Given the description of an element on the screen output the (x, y) to click on. 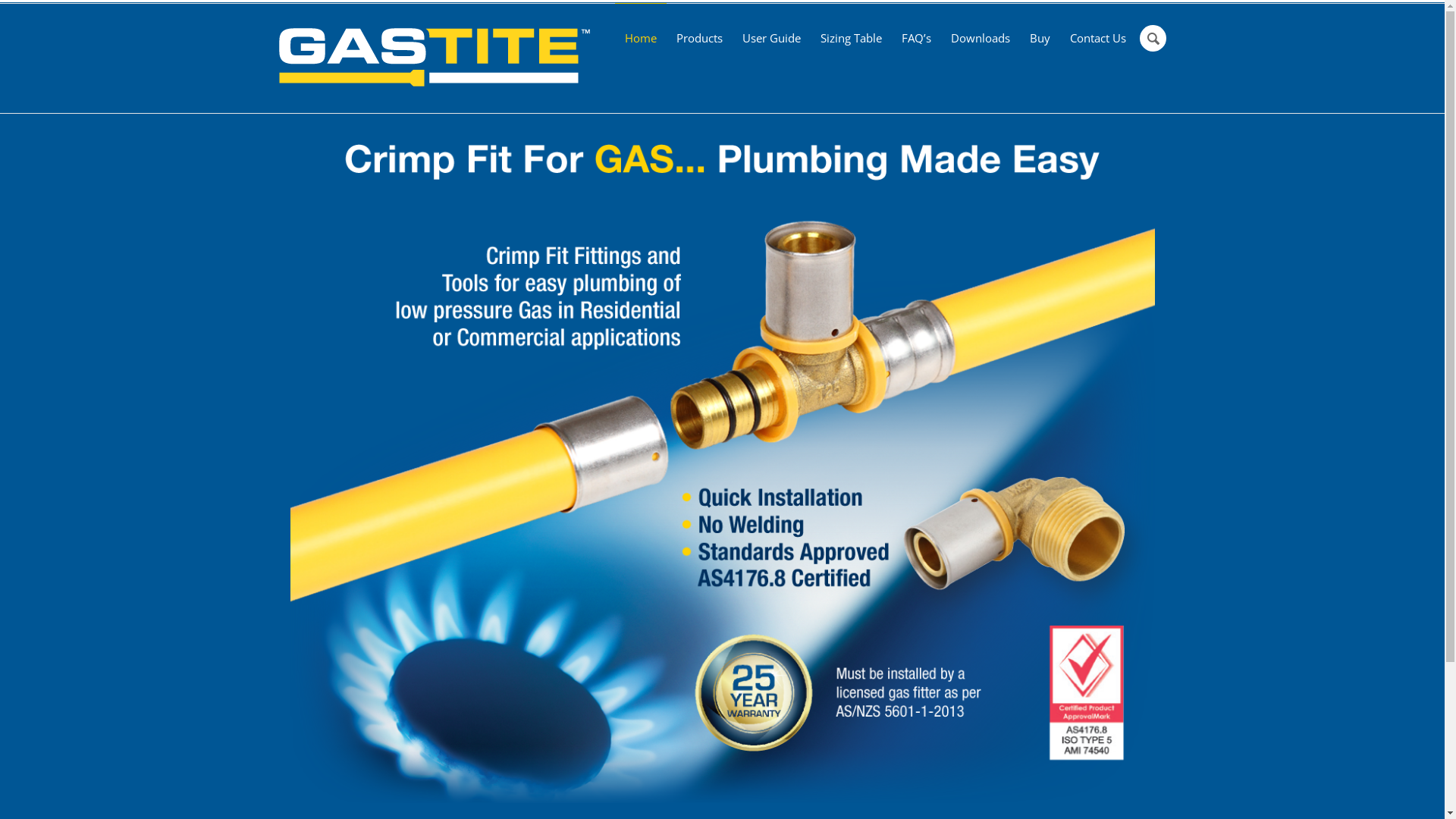
Contact Us Element type: text (1097, 34)
Sizing Table Element type: text (850, 34)
Products Element type: text (698, 34)
Downloads Element type: text (979, 34)
Home Element type: text (639, 34)
User Guide Element type: text (771, 34)
Buy Element type: text (1039, 34)
